Given the description of an element on the screen output the (x, y) to click on. 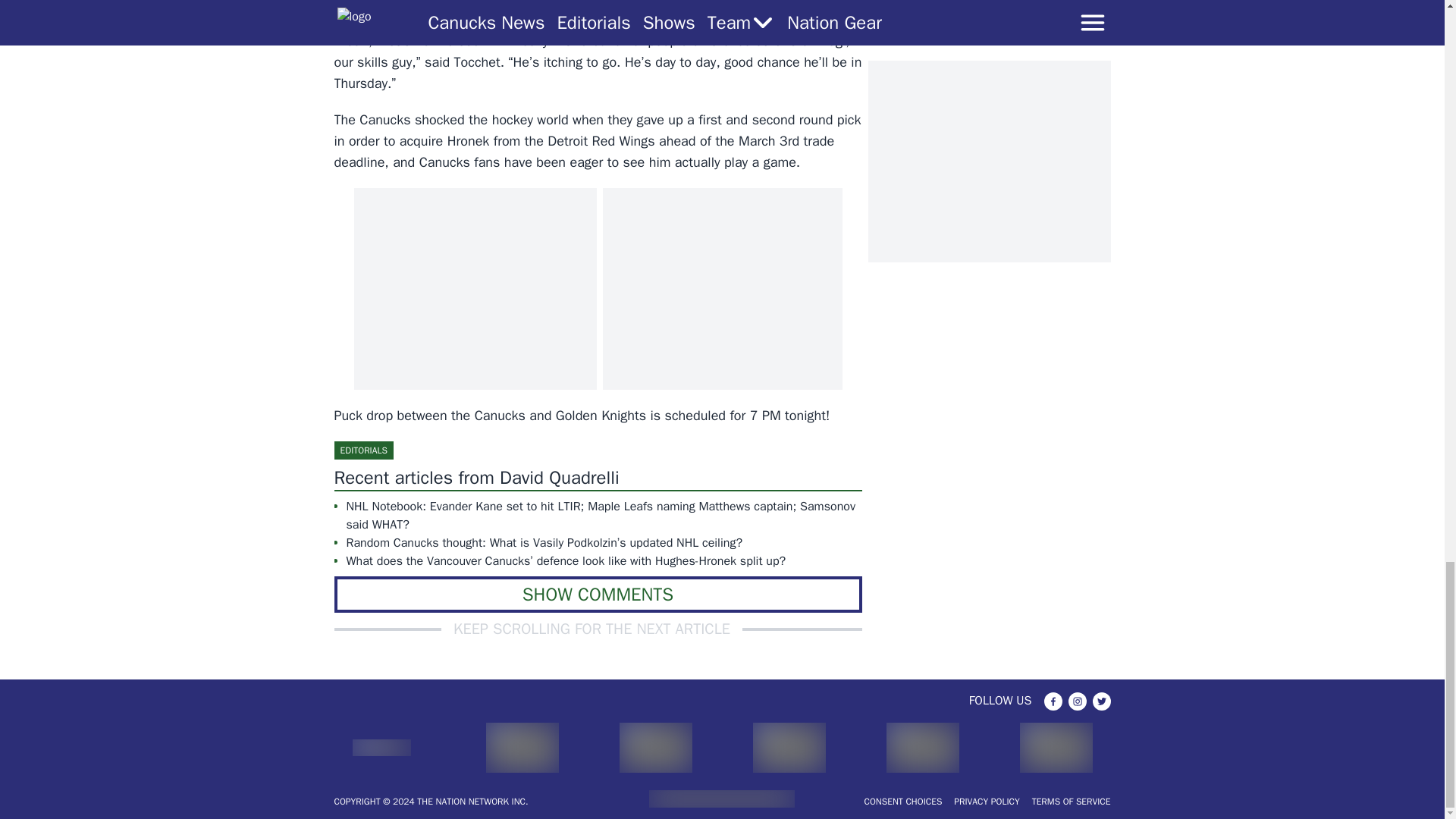
EDITORIALS (363, 450)
SHOW COMMENTS (597, 594)
SHOW COMMENTS (597, 594)
